Given the description of an element on the screen output the (x, y) to click on. 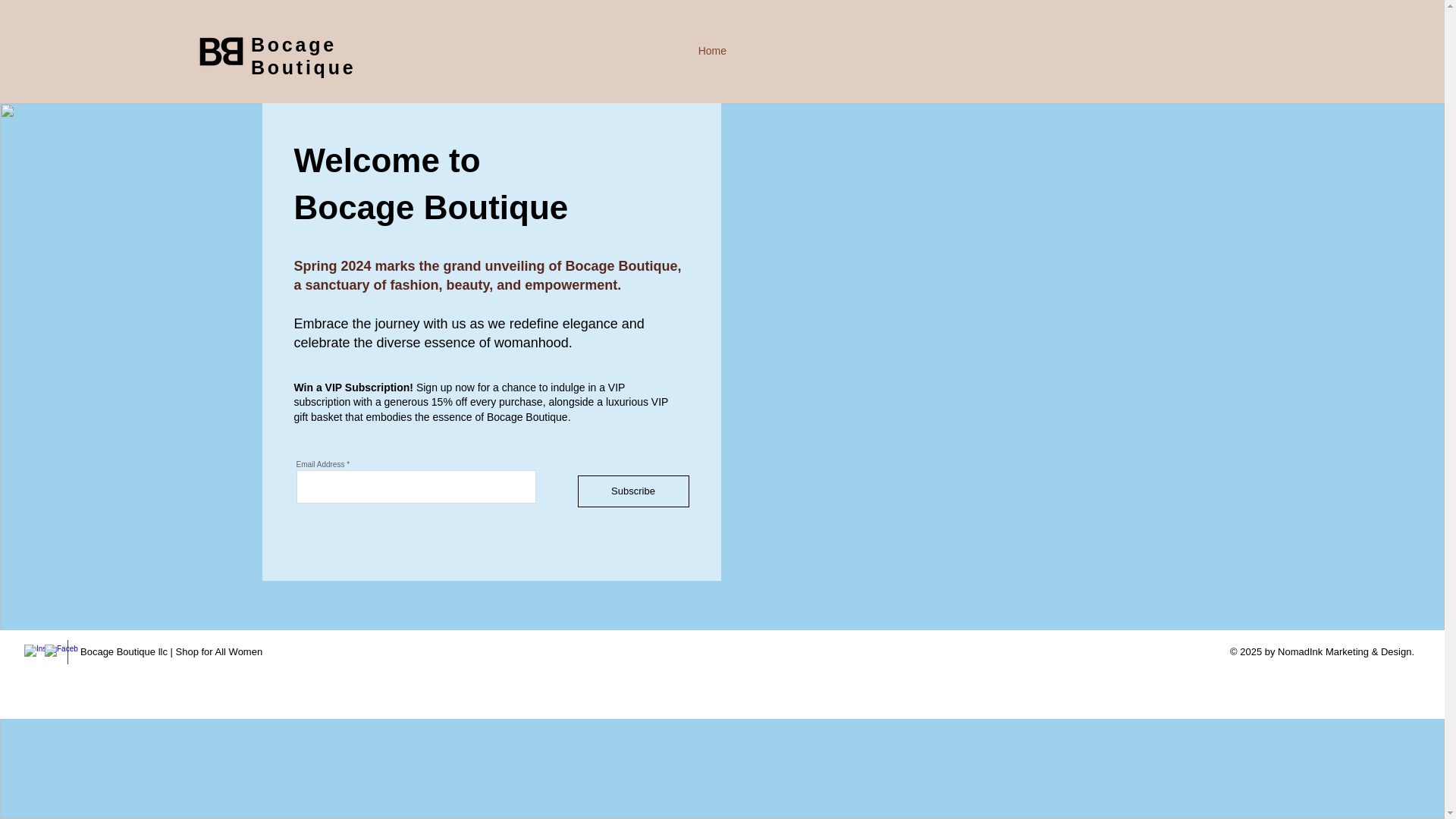
Home (710, 50)
Boutique (302, 66)
Subscribe (633, 490)
Bocage (293, 44)
